Given the description of an element on the screen output the (x, y) to click on. 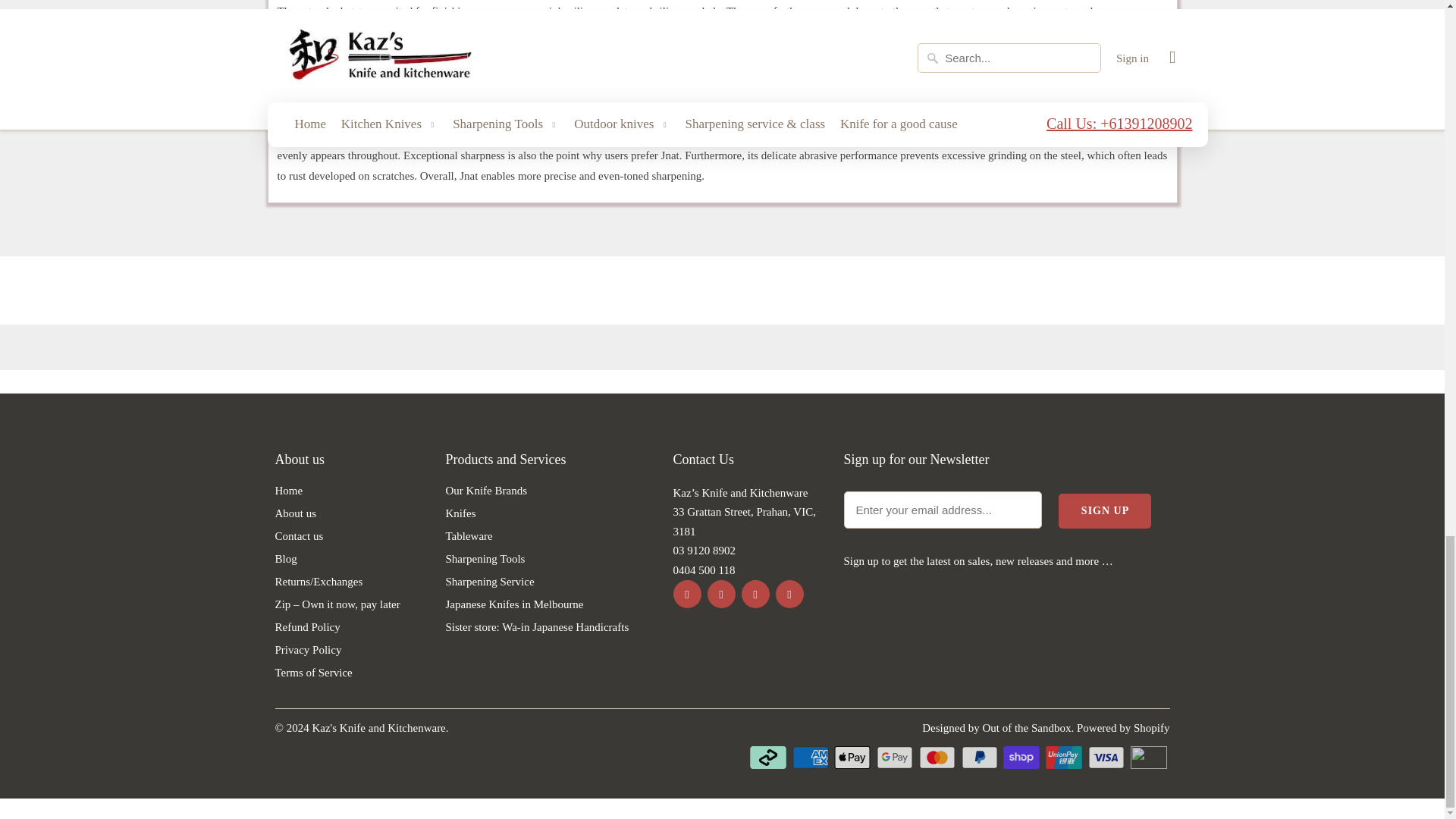
Sign Up (1104, 510)
